Given the description of an element on the screen output the (x, y) to click on. 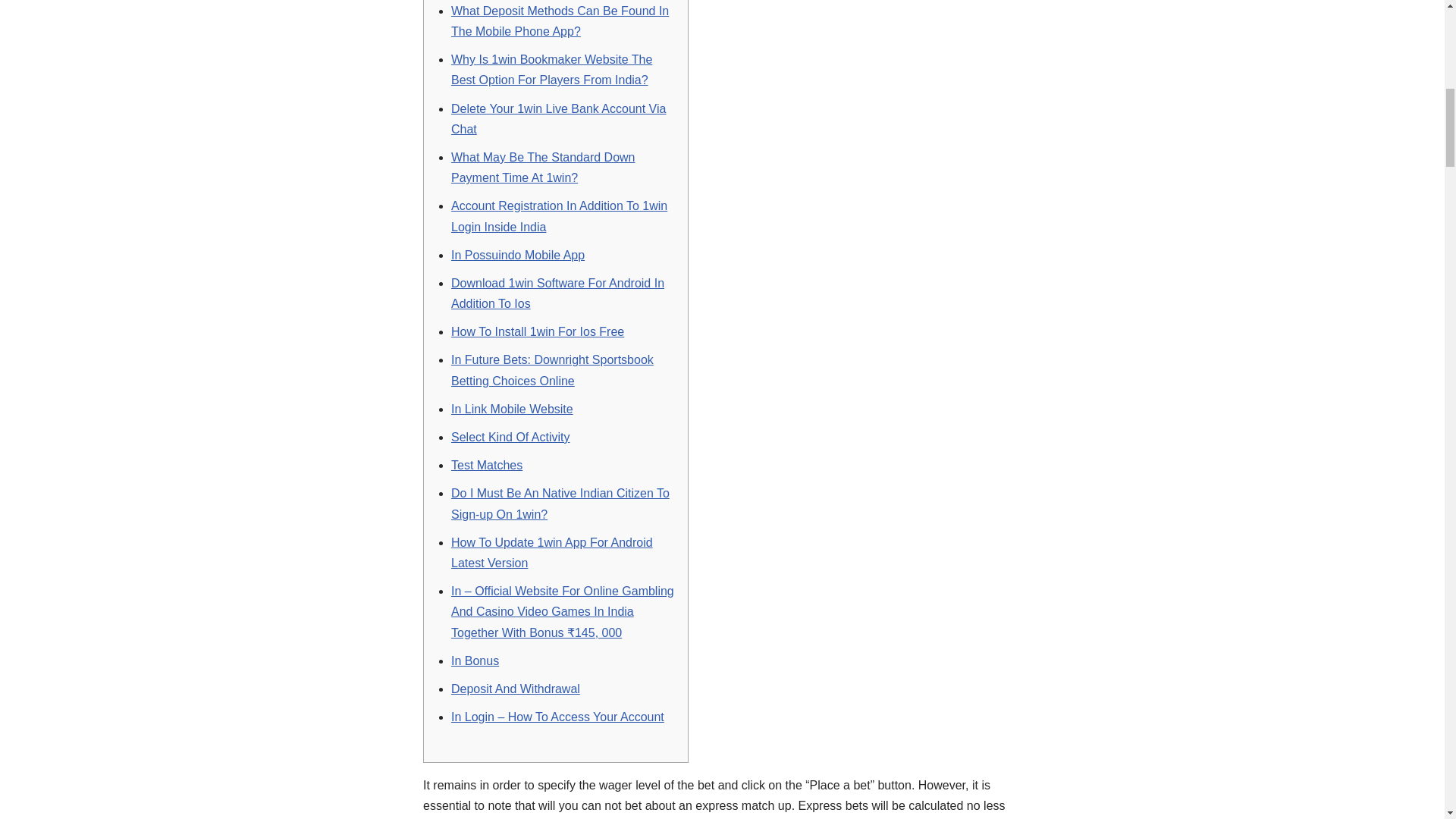
In Future Bets: Downright Sportsbook Betting Choices Online (552, 369)
In Bonus (475, 660)
Deposit And Withdrawal (515, 688)
Select Kind Of Activity (510, 436)
Test Matches (486, 464)
How To Install 1win For Ios Free (537, 331)
What May Be The Standard Down Payment Time At 1win? (542, 167)
Account Registration In Addition To 1win Login Inside India (558, 215)
How To Update 1win App For Android Latest Version (551, 552)
Do I Must Be An Native Indian Citizen To Sign-up On 1win? (560, 503)
